Given the description of an element on the screen output the (x, y) to click on. 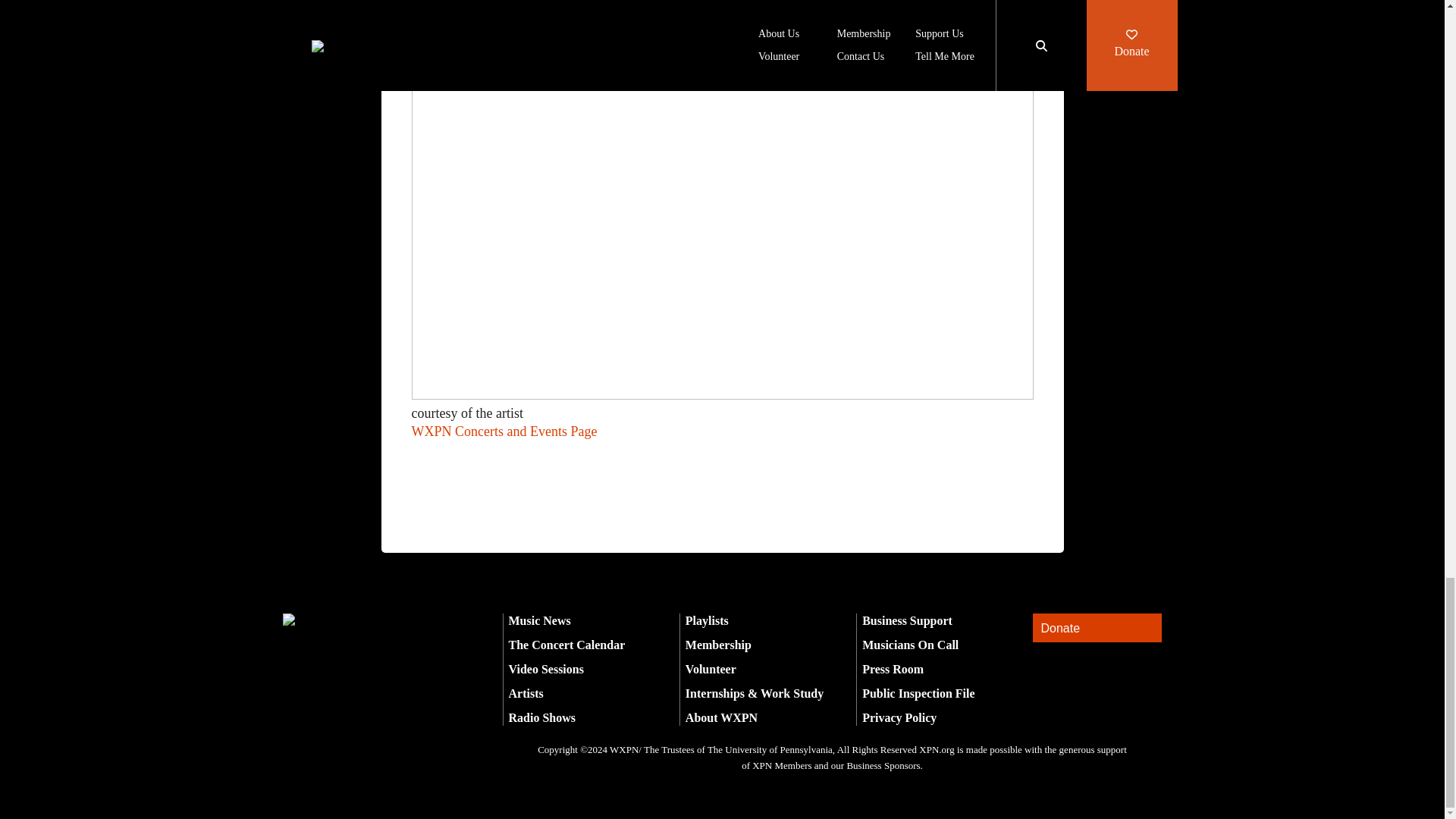
Playlists (707, 620)
Press Room (892, 668)
Music News (539, 620)
Artists (525, 693)
Donate (1096, 627)
Video Sessions (545, 668)
Radio Shows (541, 717)
WXPN Concerts and Events Page (503, 431)
Membership (718, 644)
Privacy Policy (898, 717)
The Concert Calendar (566, 644)
Public Inspection File (917, 693)
Volunteer (710, 668)
About WXPN (721, 717)
Musicians On Call (909, 644)
